Given the description of an element on the screen output the (x, y) to click on. 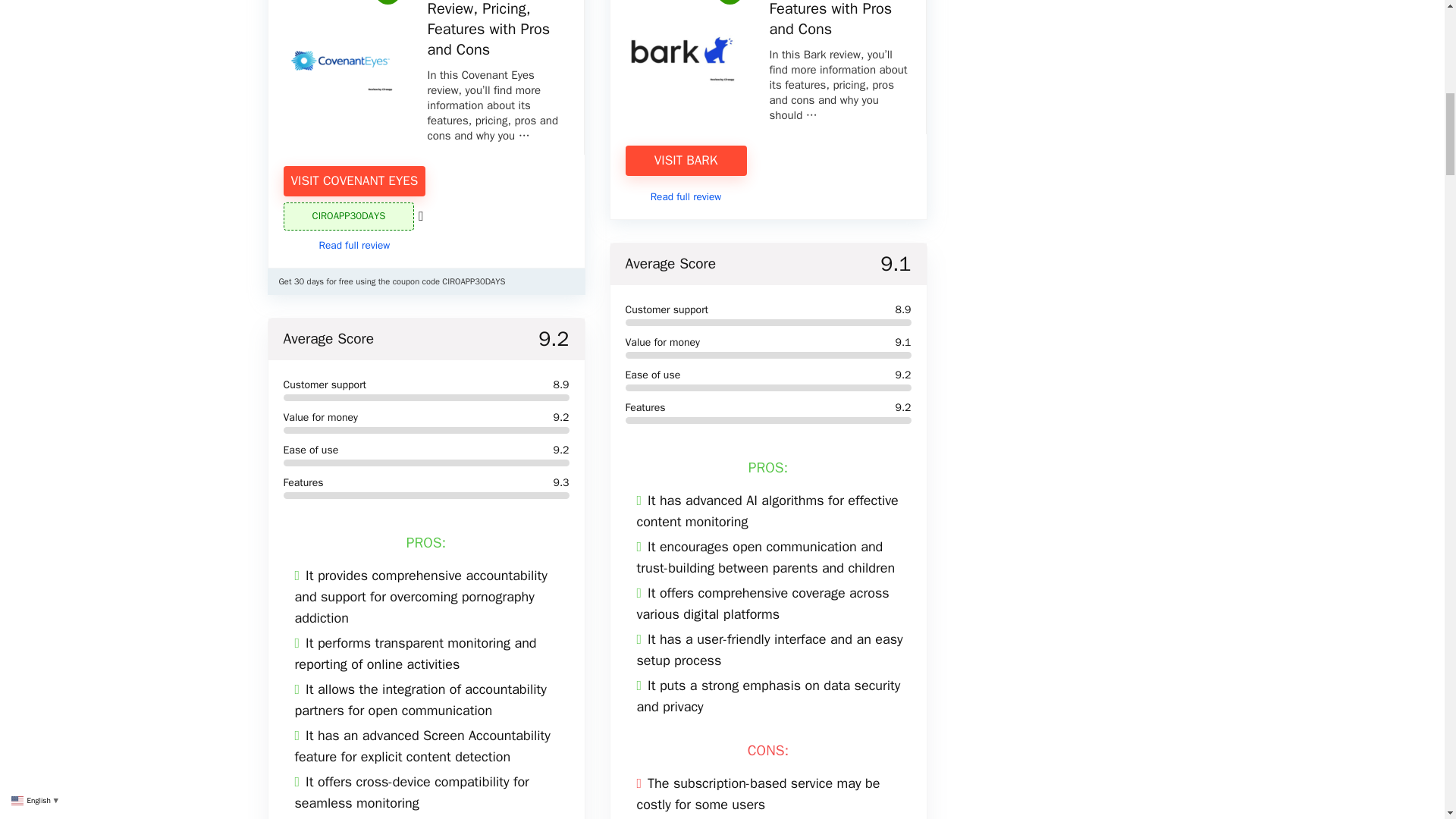
Covenant Eyes Review, Pricing, Features with Pros and Cons (489, 29)
Bark Review, Pricing, Features with Pros and Cons (837, 19)
VISIT COVENANT EYES (354, 181)
Read full review (686, 196)
VISIT BARK (684, 160)
Read full review (354, 245)
